Given the description of an element on the screen output the (x, y) to click on. 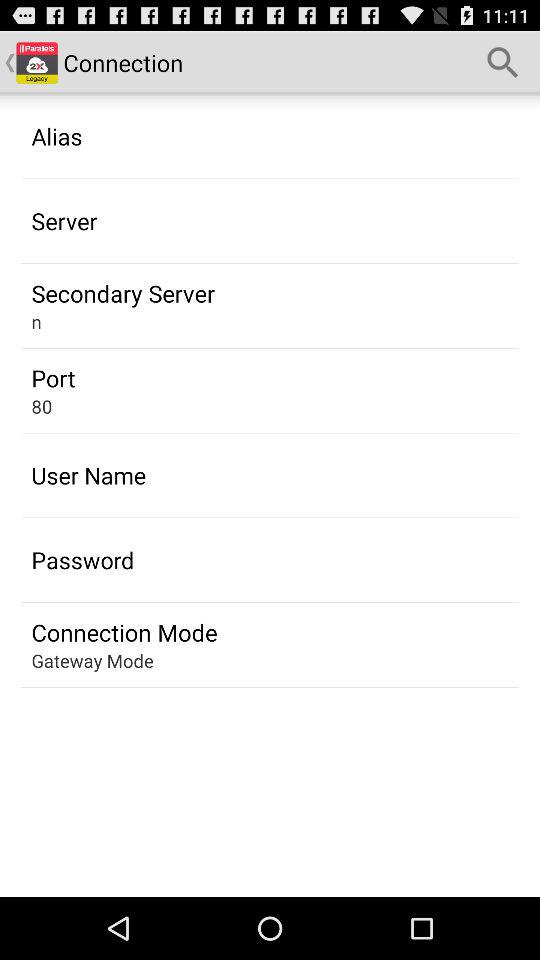
swipe until 80 app (41, 406)
